Given the description of an element on the screen output the (x, y) to click on. 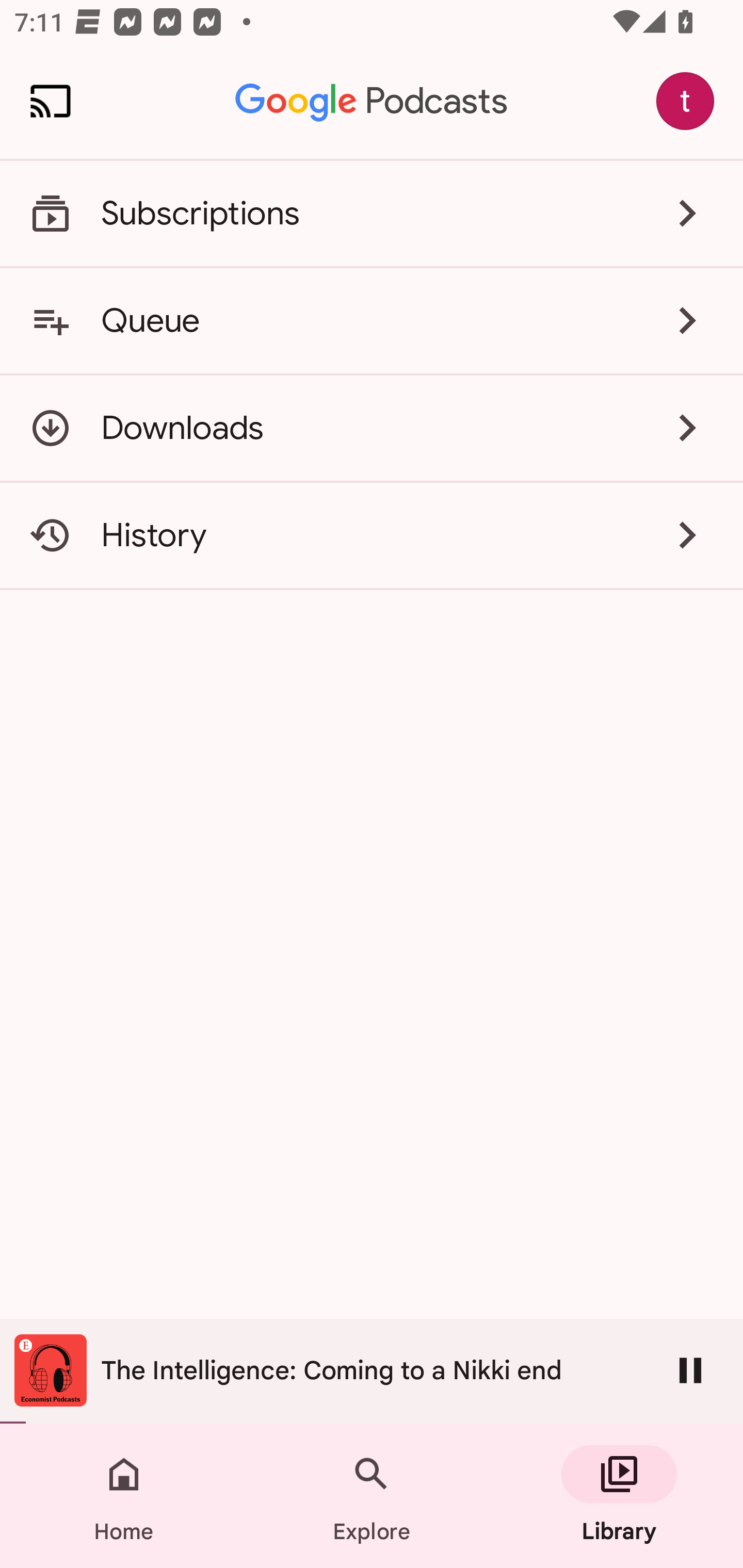
Cast. Disconnected (50, 101)
Subscriptions (371, 213)
Queue (371, 320)
Downloads (371, 427)
History (371, 535)
Pause (690, 1370)
Home (123, 1495)
Explore (371, 1495)
